Given the description of an element on the screen output the (x, y) to click on. 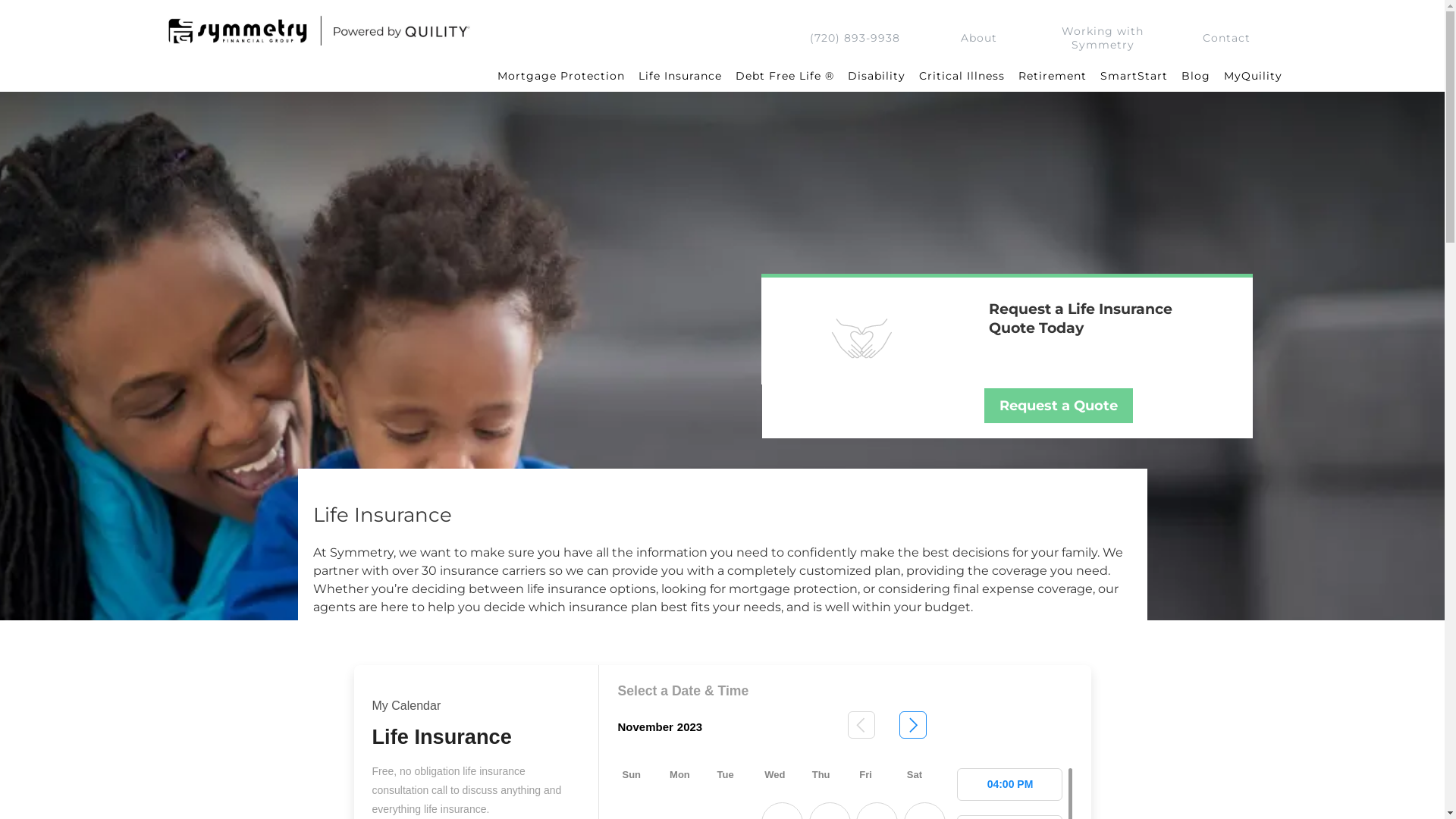
Critical Illness Element type: text (960, 76)
Blog Element type: text (1194, 76)
November Element type: text (644, 726)
Retirement Element type: text (1052, 76)
(720) 893-9938 Element type: text (854, 37)
Working with Symmetry Element type: text (1102, 37)
SmartStart Element type: text (1133, 76)
Previous month Element type: hover (861, 727)
Life Insurance Element type: text (679, 76)
Contact Element type: text (1226, 37)
Disability Element type: text (875, 76)
2023 Element type: text (689, 726)
Request a Quote Element type: text (1058, 405)
Next month Element type: hover (912, 727)
About Element type: text (978, 37)
MyQuility Element type: text (1252, 76)
Mortgage Protection Element type: text (559, 76)
